Given the description of an element on the screen output the (x, y) to click on. 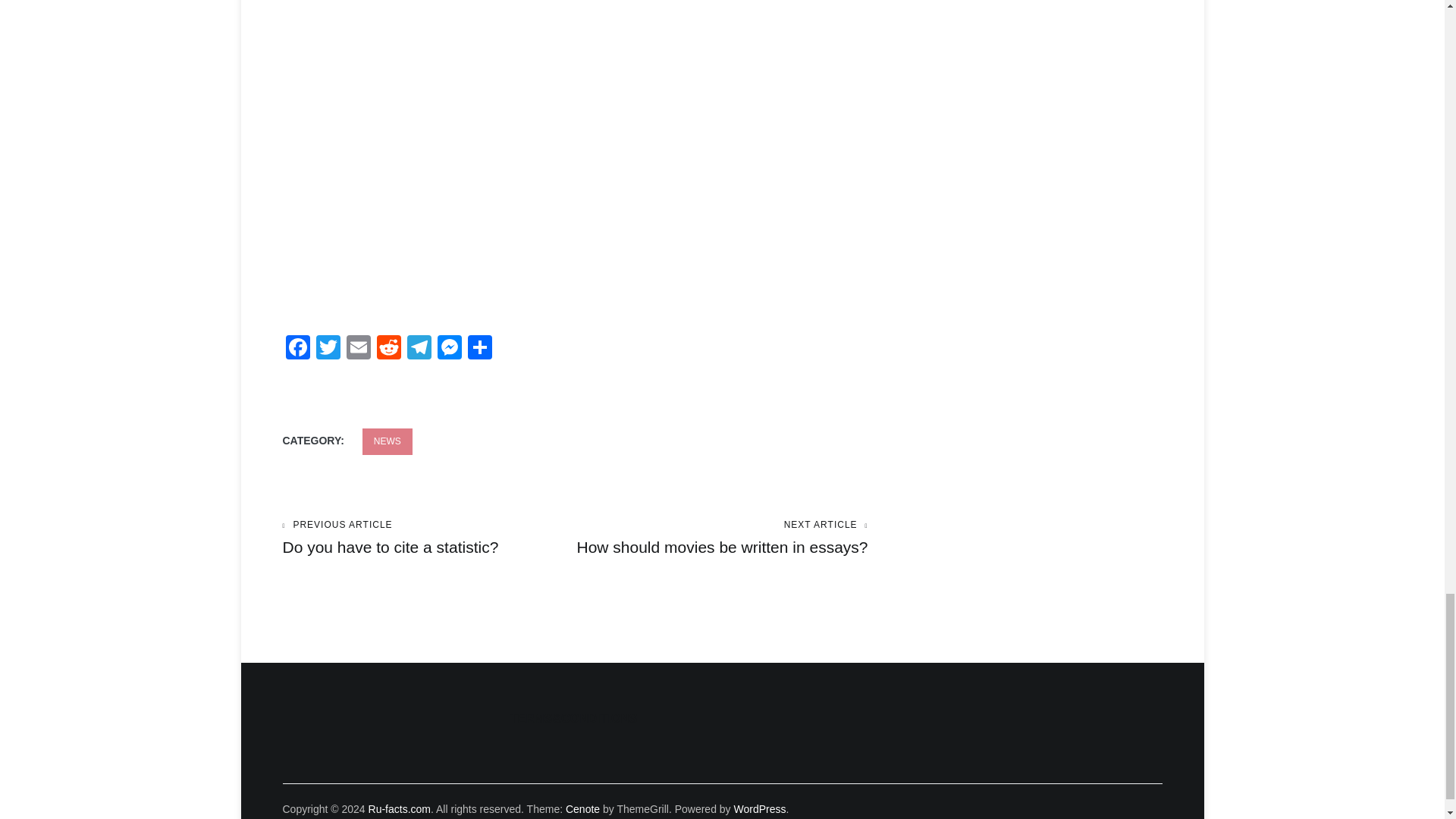
Ru-facts.com (721, 537)
Email (399, 808)
Email (357, 348)
NEWS (357, 348)
Twitter (387, 441)
Telegram (428, 537)
Messenger (327, 348)
Reddit (418, 348)
